Given the description of an element on the screen output the (x, y) to click on. 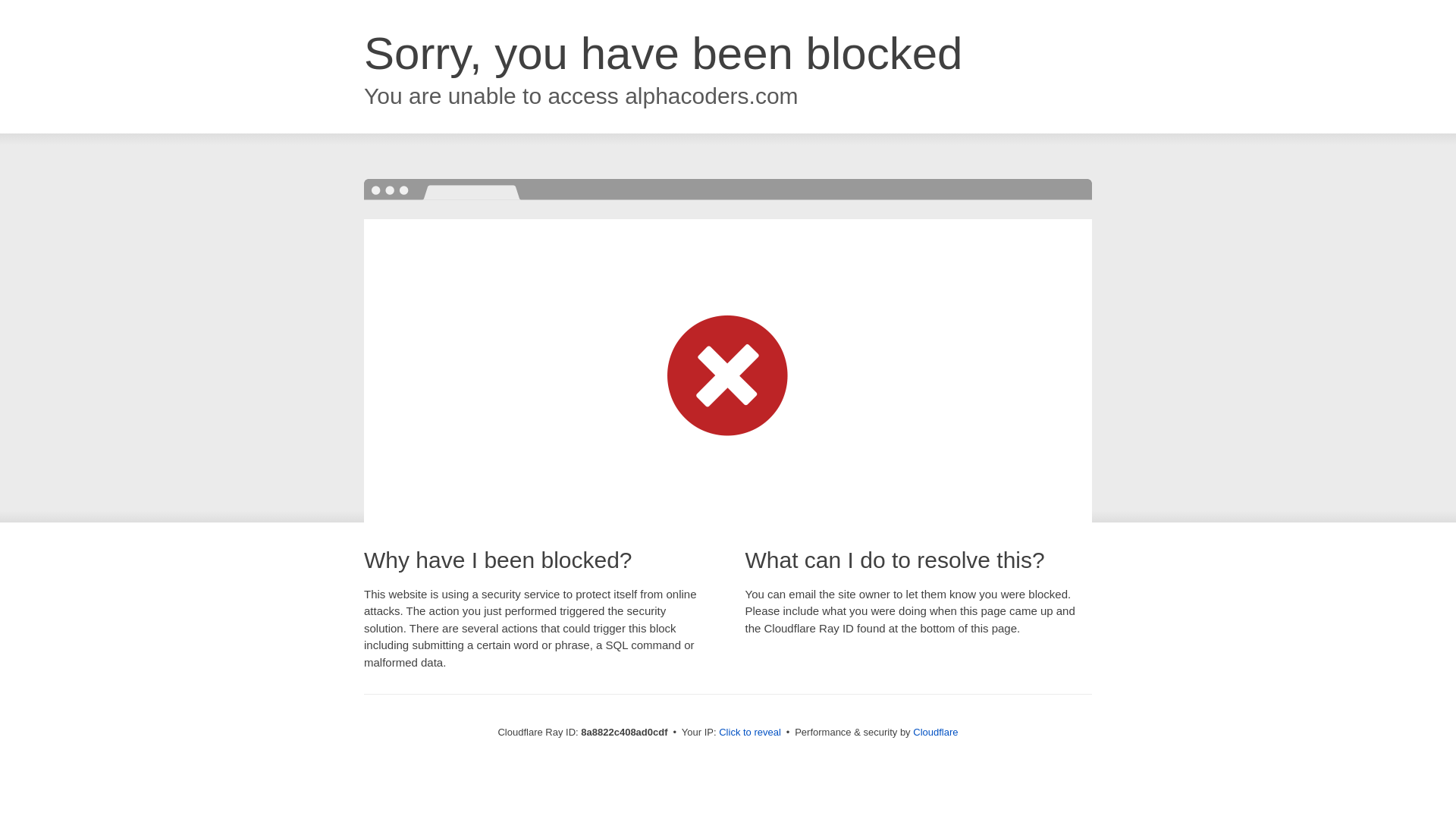
Cloudflare (935, 731)
Click to reveal (749, 732)
